Given the description of an element on the screen output the (x, y) to click on. 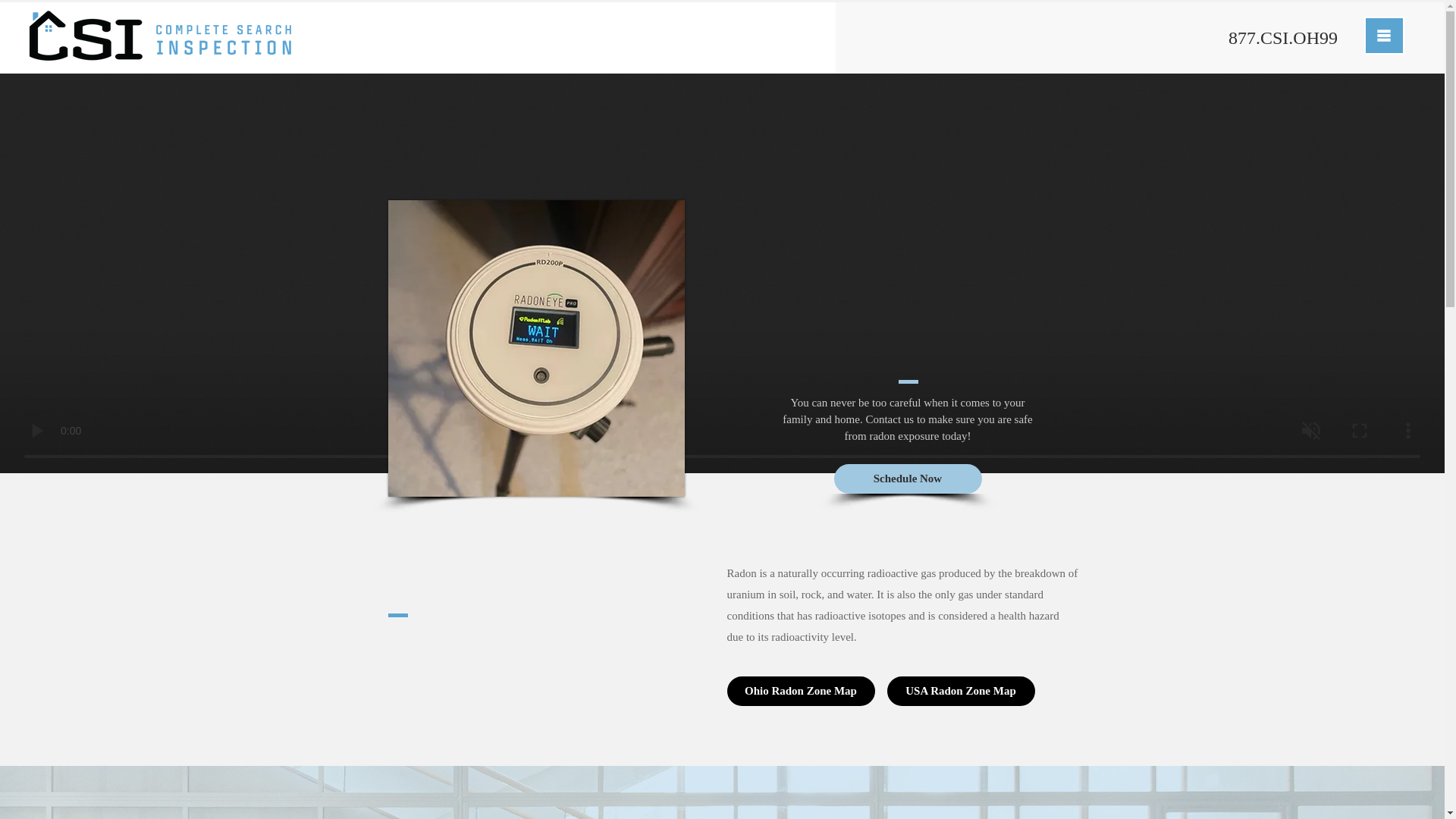
USA Radon Zone Map (960, 690)
877.CSI.OH99 (1283, 39)
Ohio Radon Zone Map (800, 690)
Schedule Now (907, 478)
